Given the description of an element on the screen output the (x, y) to click on. 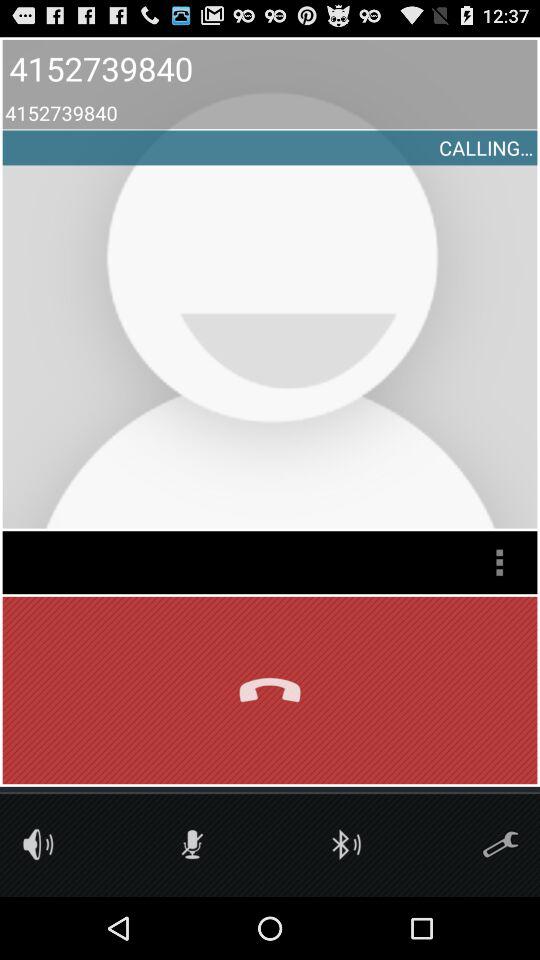
mic off (192, 844)
